Given the description of an element on the screen output the (x, y) to click on. 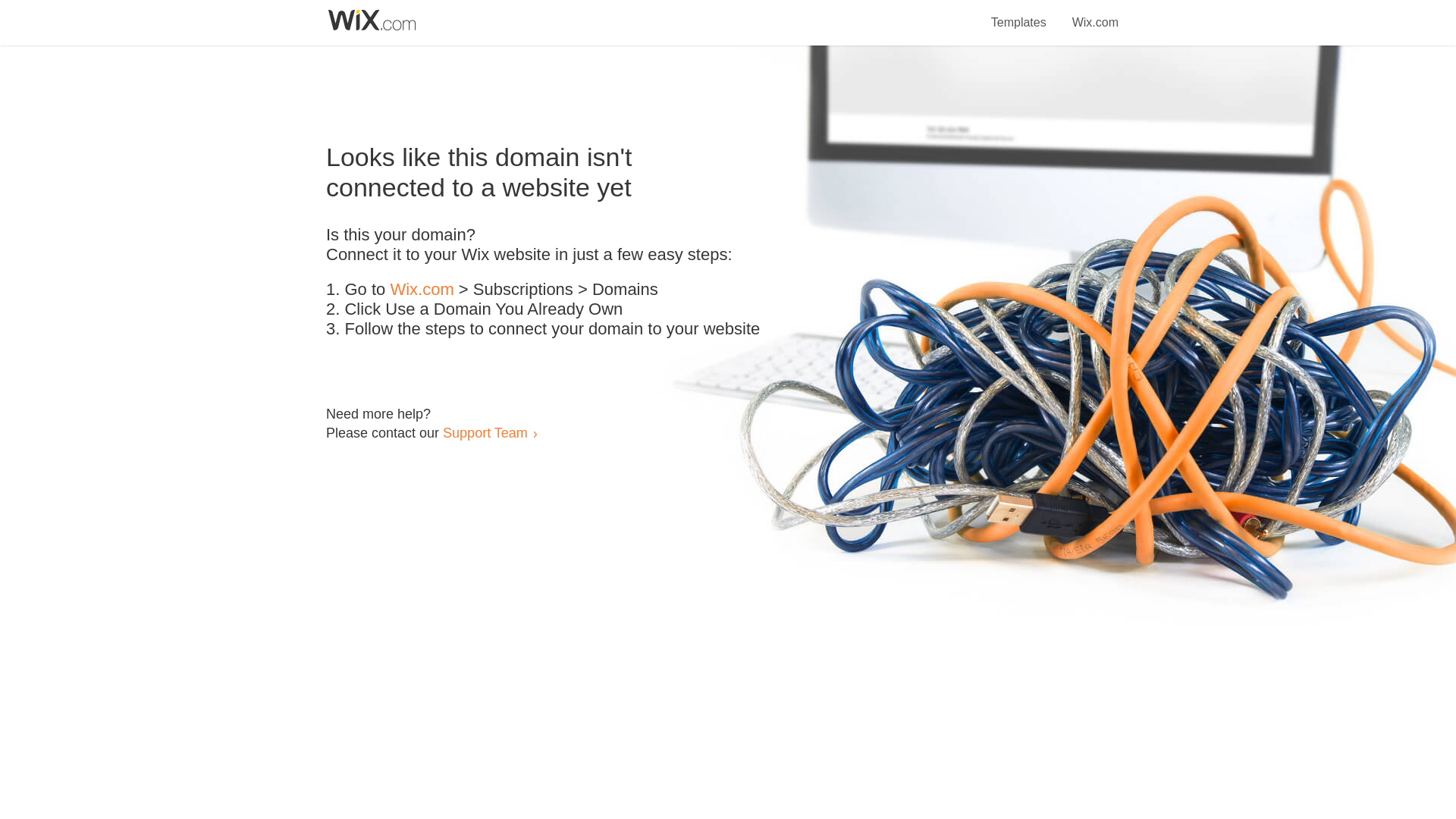
Wix.com (1095, 14)
Templates (1018, 14)
Wix.com (421, 289)
Support Team (484, 432)
